Given the description of an element on the screen output the (x, y) to click on. 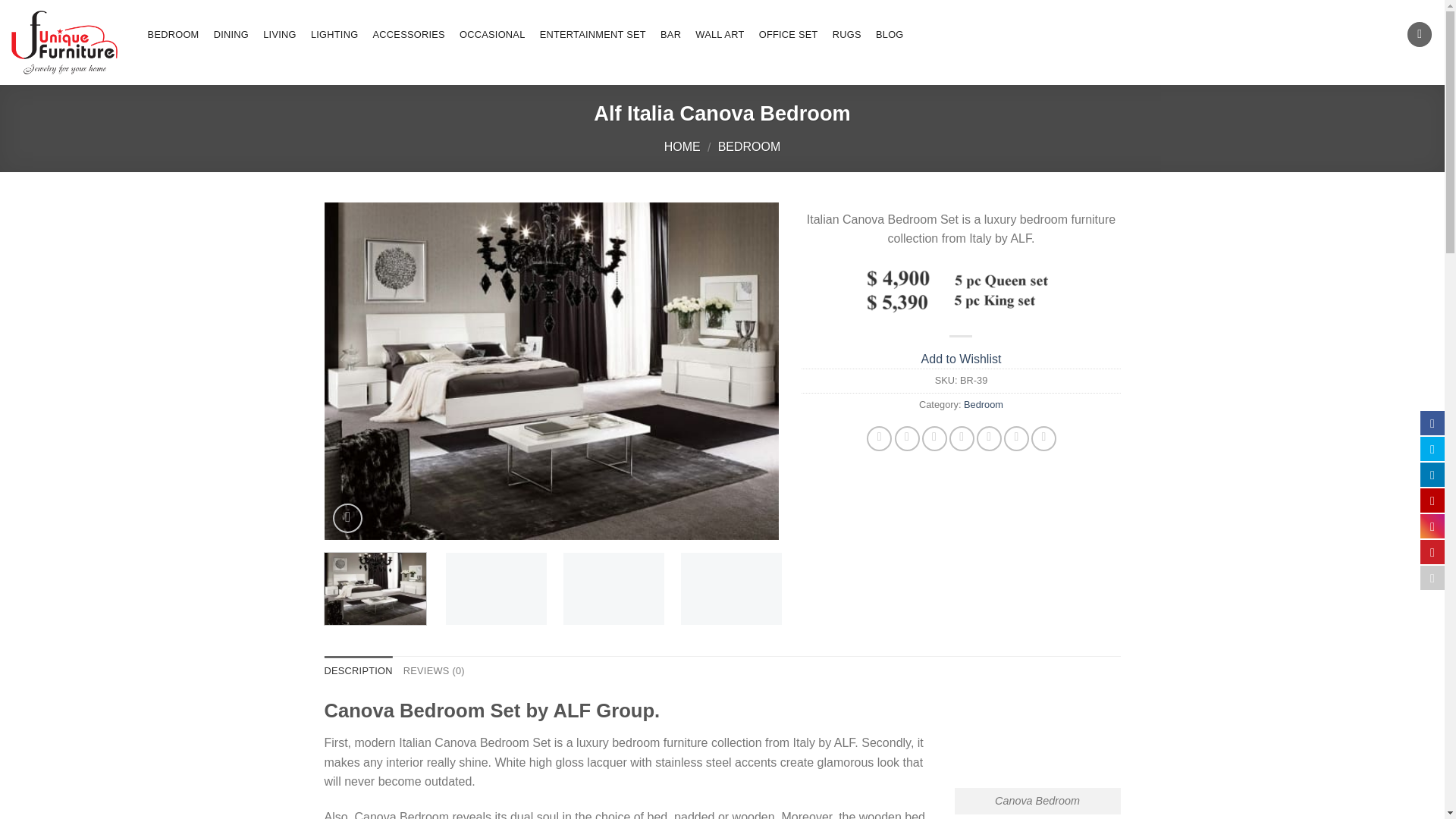
BEDROOM (748, 146)
OCCASIONAL (491, 34)
MA canova 06 (965, 590)
BLOG (889, 34)
MA canova 02 (496, 590)
BEDROOM (172, 34)
Zoom (347, 518)
HOME (681, 146)
WALL ART (719, 34)
ACCESSORIES (408, 34)
RUGS (846, 34)
DINING (231, 34)
BAR (669, 34)
